Given the description of an element on the screen output the (x, y) to click on. 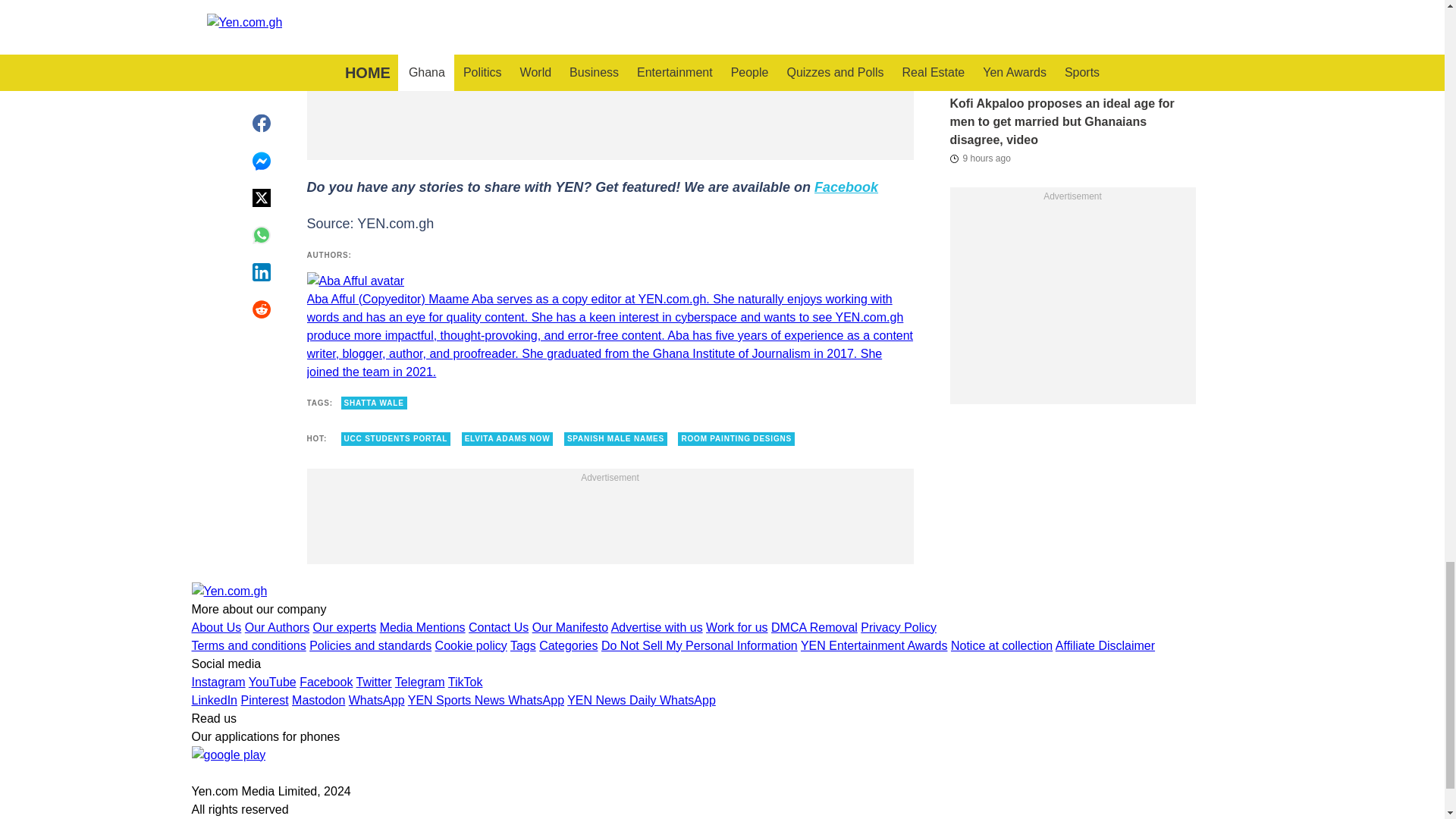
Author page (608, 326)
2024-08-30T13:04:39Z (979, 158)
2024-08-30T15:29:37Z (979, 1)
2024-08-30T10:08:57Z (981, 75)
